Given the description of an element on the screen output the (x, y) to click on. 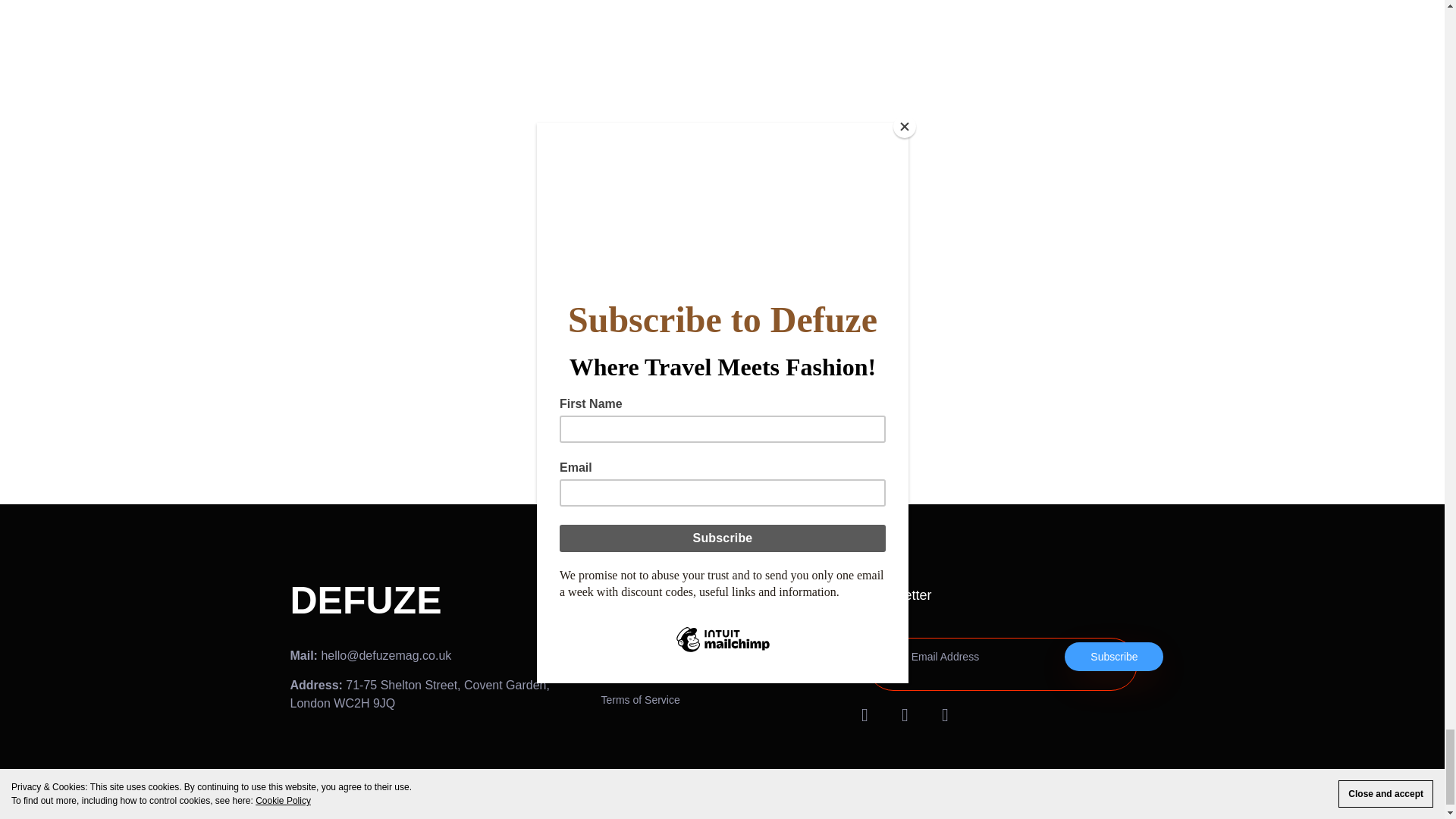
Shop (788, 645)
Terms of Service (655, 700)
Post Comment (341, 330)
Privacy Policy (655, 672)
About Us (655, 645)
Subscribe (1113, 656)
